Given the description of an element on the screen output the (x, y) to click on. 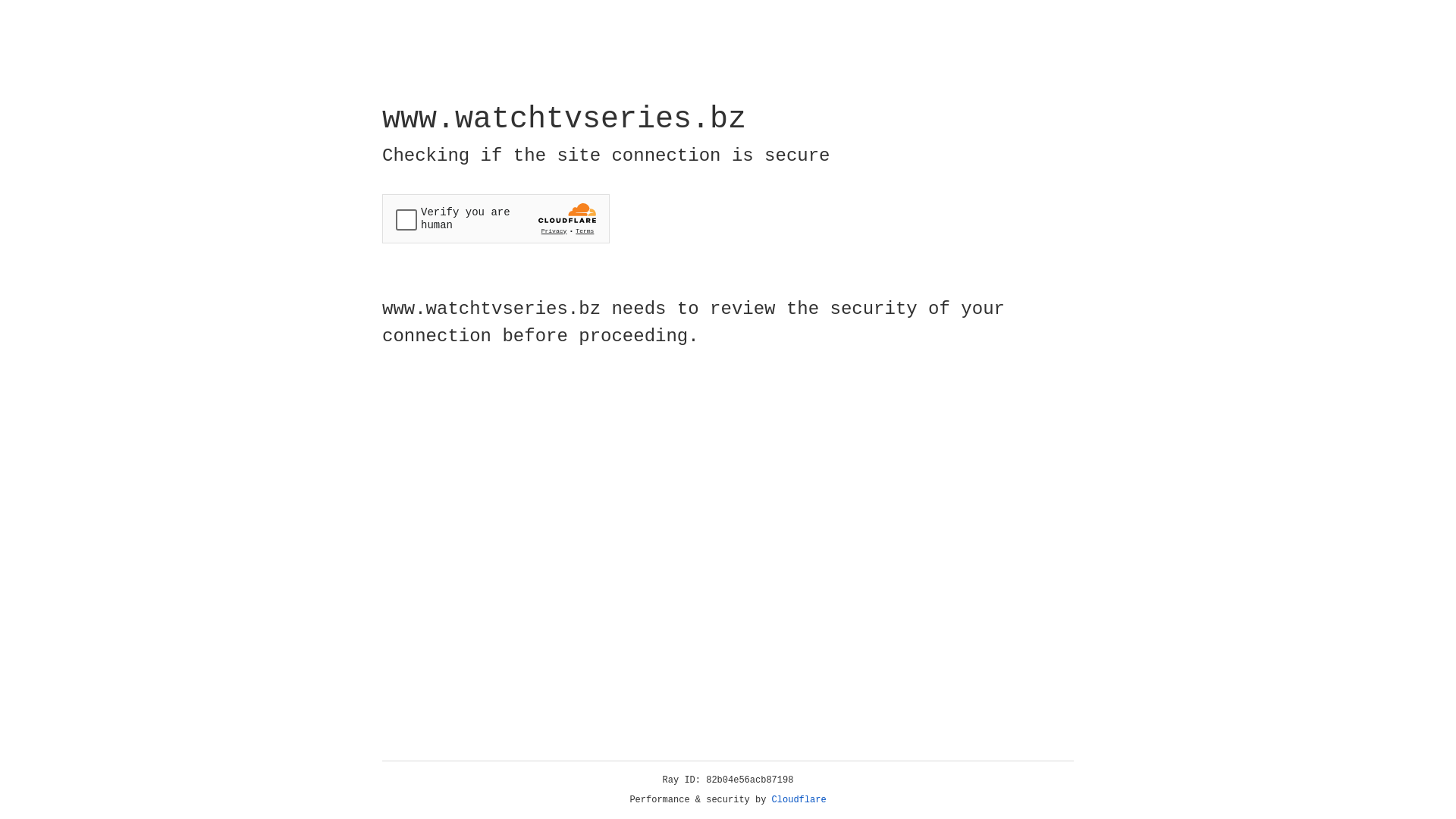
Cloudflare Element type: text (798, 799)
Widget containing a Cloudflare security challenge Element type: hover (495, 218)
